Given the description of an element on the screen output the (x, y) to click on. 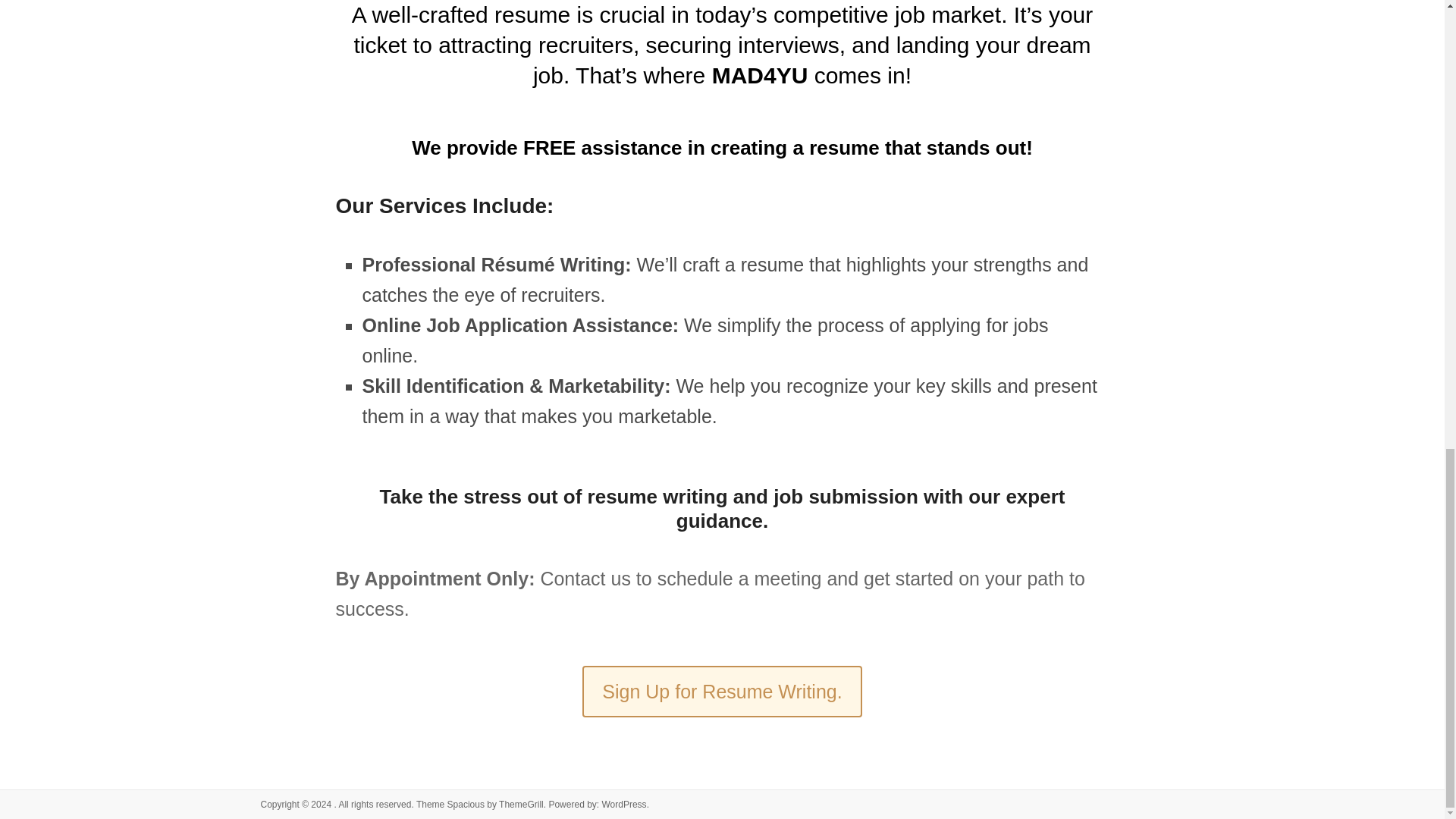
Spacious (465, 804)
WordPress (623, 804)
Sign Up for Resume Writing. (721, 691)
WordPress (623, 804)
Spacious (465, 804)
